Given the description of an element on the screen output the (x, y) to click on. 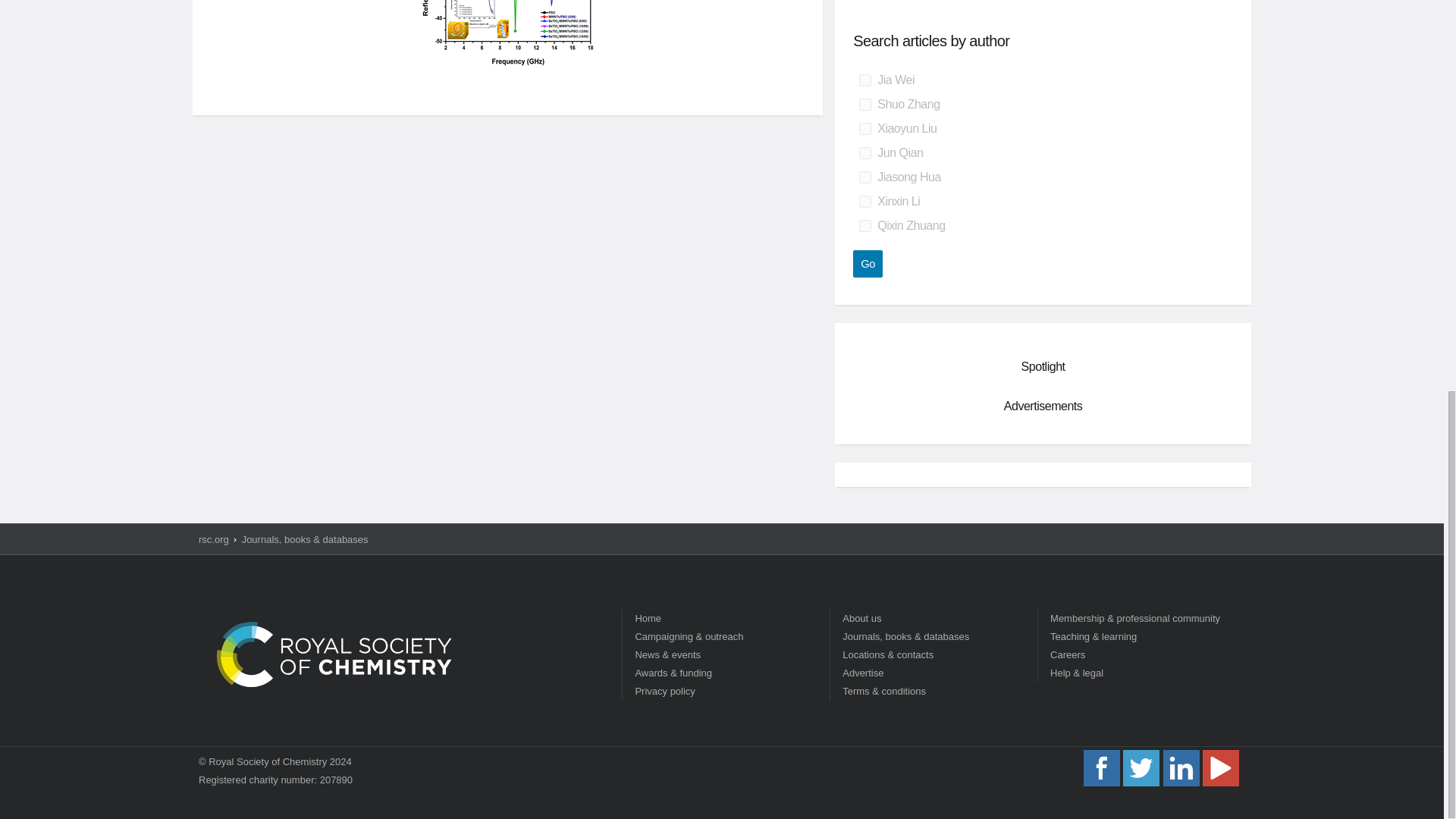
on (864, 104)
Go (867, 263)
on (864, 152)
on (864, 177)
on (864, 201)
Go (867, 263)
on (864, 225)
on (864, 128)
on (864, 80)
